Given the description of an element on the screen output the (x, y) to click on. 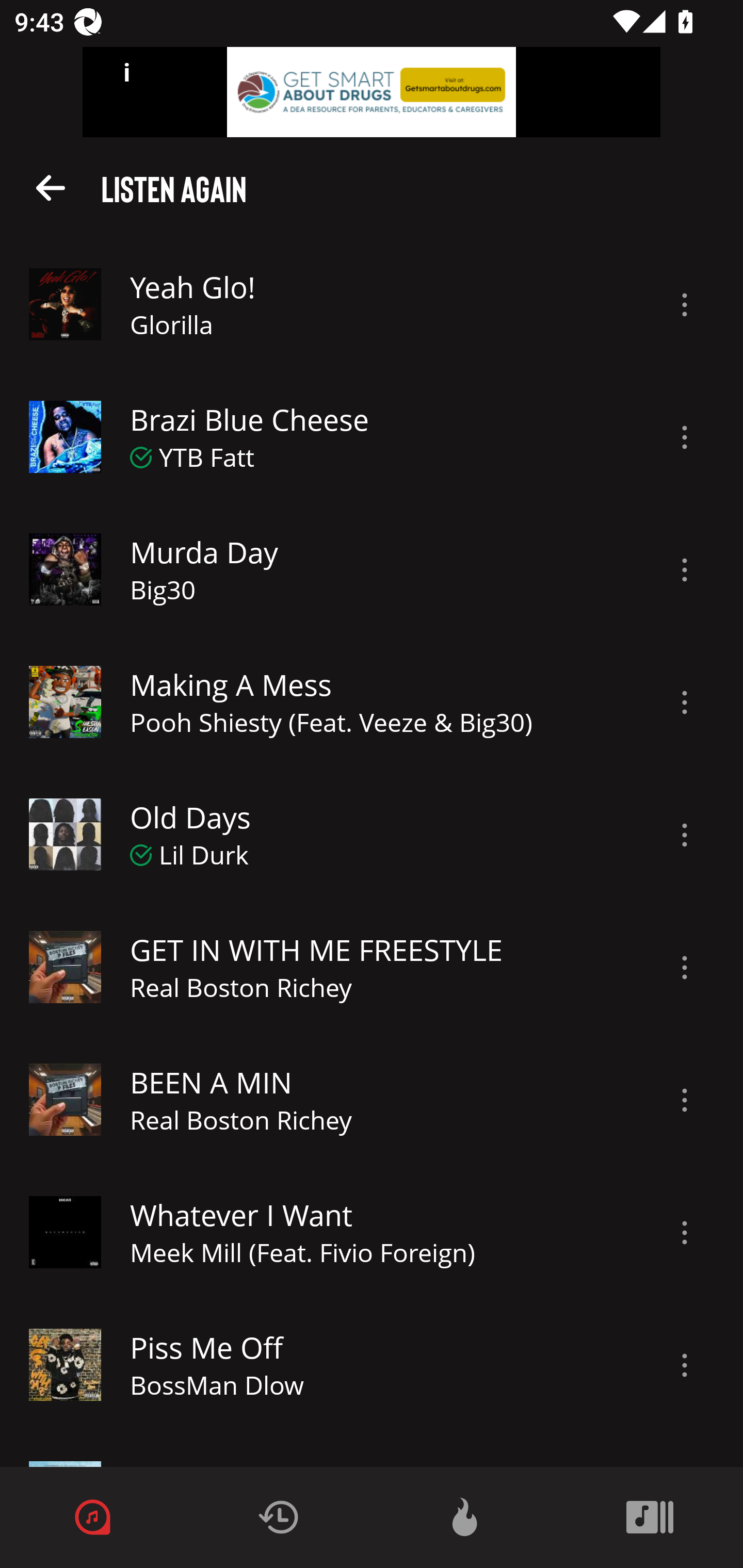
Description Yeah Glo! Glorilla Description (371, 304)
Description (685, 304)
Description (685, 437)
Description Murda Day Big30 Description (371, 569)
Description (685, 569)
Description (685, 702)
Description (685, 834)
Description (685, 968)
Description (685, 1099)
Description (685, 1233)
Description Piss Me Off BossMan Dlow Description (371, 1364)
Description (685, 1364)
